Given the description of an element on the screen output the (x, y) to click on. 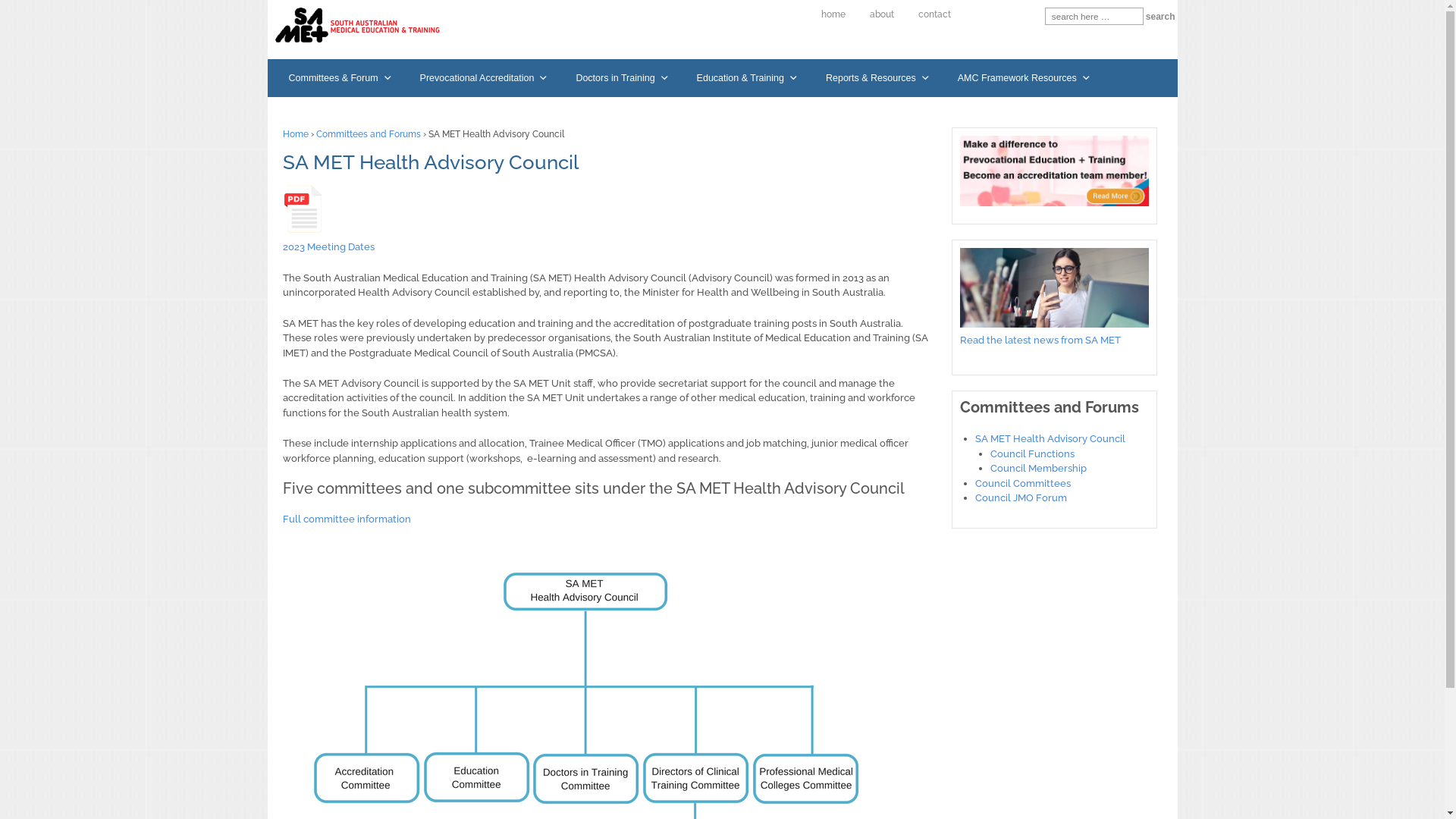
Council JMO Forum Element type: text (1020, 497)
Council Membership Element type: text (1038, 467)
Prevocational Accreditation Element type: text (484, 78)
Full committee information Element type: text (346, 518)
search Element type: text (1160, 16)
contact Element type: text (934, 14)
SA MET Health Advisory Council Element type: text (1050, 438)
about Element type: text (881, 14)
Council Committees Element type: text (1022, 483)
Education & Training Element type: text (747, 78)
home Element type: text (833, 14)
AMC Framework Resources Element type: text (1024, 78)
Committees & Forum Element type: text (340, 78)
Doctors in Training Element type: text (621, 78)
Reports & Resources Element type: text (877, 78)
Committees and Forums Element type: text (367, 133)
2023 Meeting Dates Element type: text (327, 246)
Home Element type: text (294, 133)
Read the latest news from SA MET Element type: text (1040, 339)
Council Functions Element type: text (1032, 452)
